Given the description of an element on the screen output the (x, y) to click on. 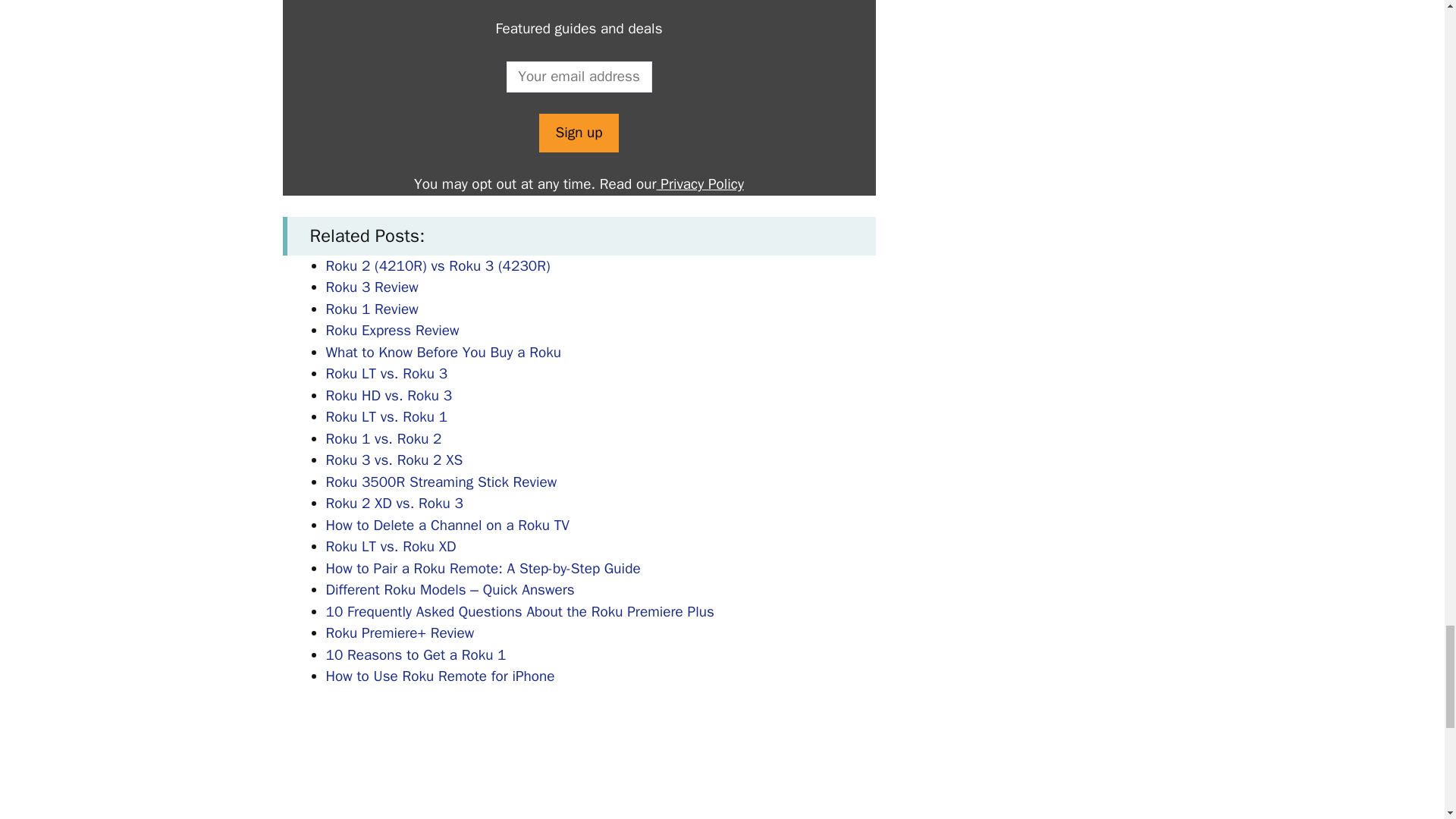
How to Delete a Channel on a Roku TV (447, 525)
Sign up (577, 132)
Roku HD vs. Roku 3 (389, 395)
Roku Express Review (393, 330)
Roku 2 XD vs. Roku 3 (394, 503)
Roku LT vs. Roku 1 (387, 416)
Roku 3 Review (372, 287)
Sign up (577, 132)
Roku 1 Review (372, 309)
Privacy Policy (700, 184)
Roku LT vs. Roku 3 (387, 373)
Roku 1 vs. Roku 2 (384, 438)
Roku 3 vs. Roku 2 XS (394, 460)
What to Know Before You Buy a Roku (443, 352)
Roku 3500R Streaming Stick Review (441, 482)
